Given the description of an element on the screen output the (x, y) to click on. 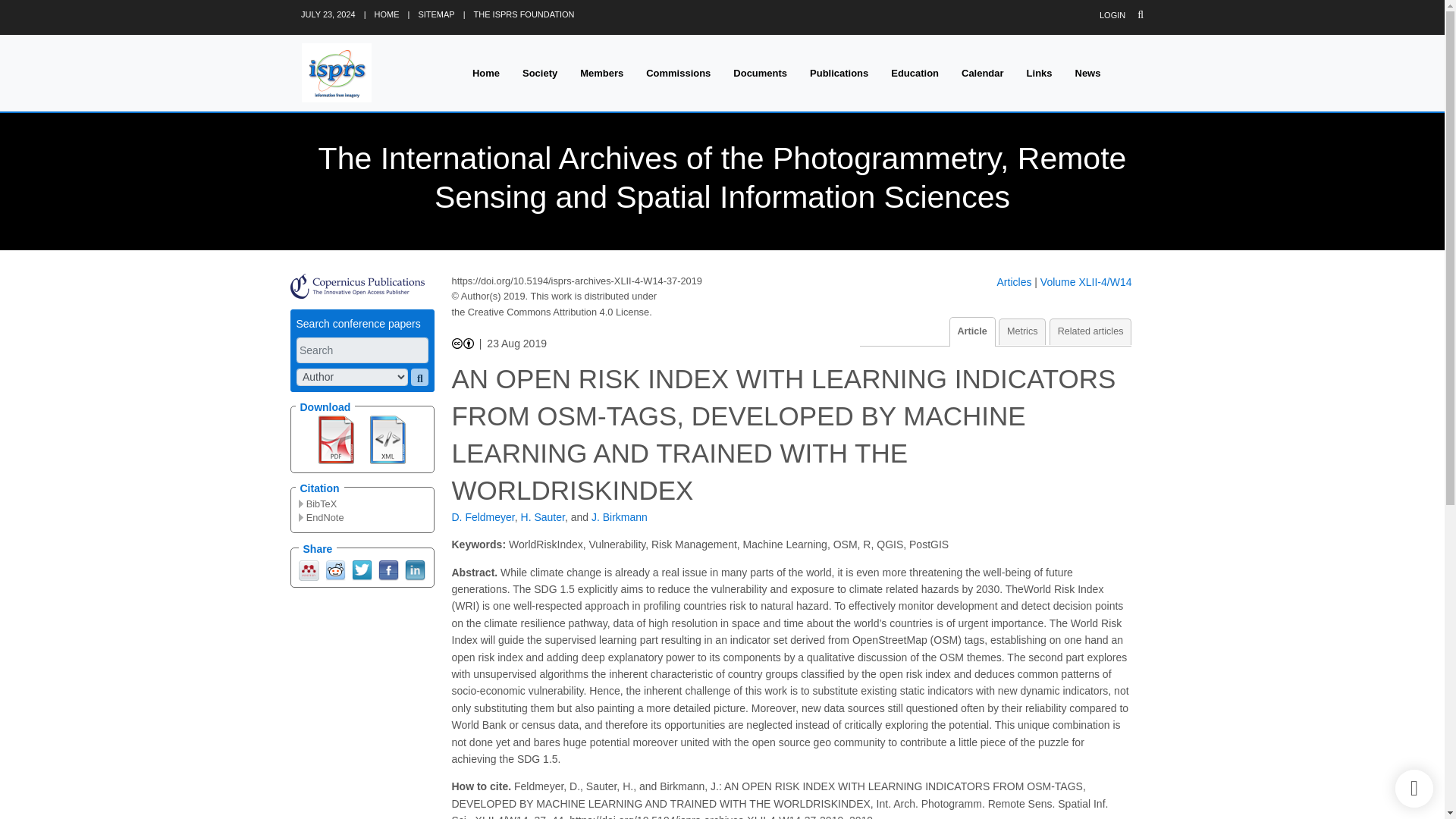
HOME (386, 13)
SITEMAP (435, 13)
Home (485, 73)
LOGIN (1112, 14)
THE ISPRS FOUNDATION (524, 13)
Society (539, 73)
